Given the description of an element on the screen output the (x, y) to click on. 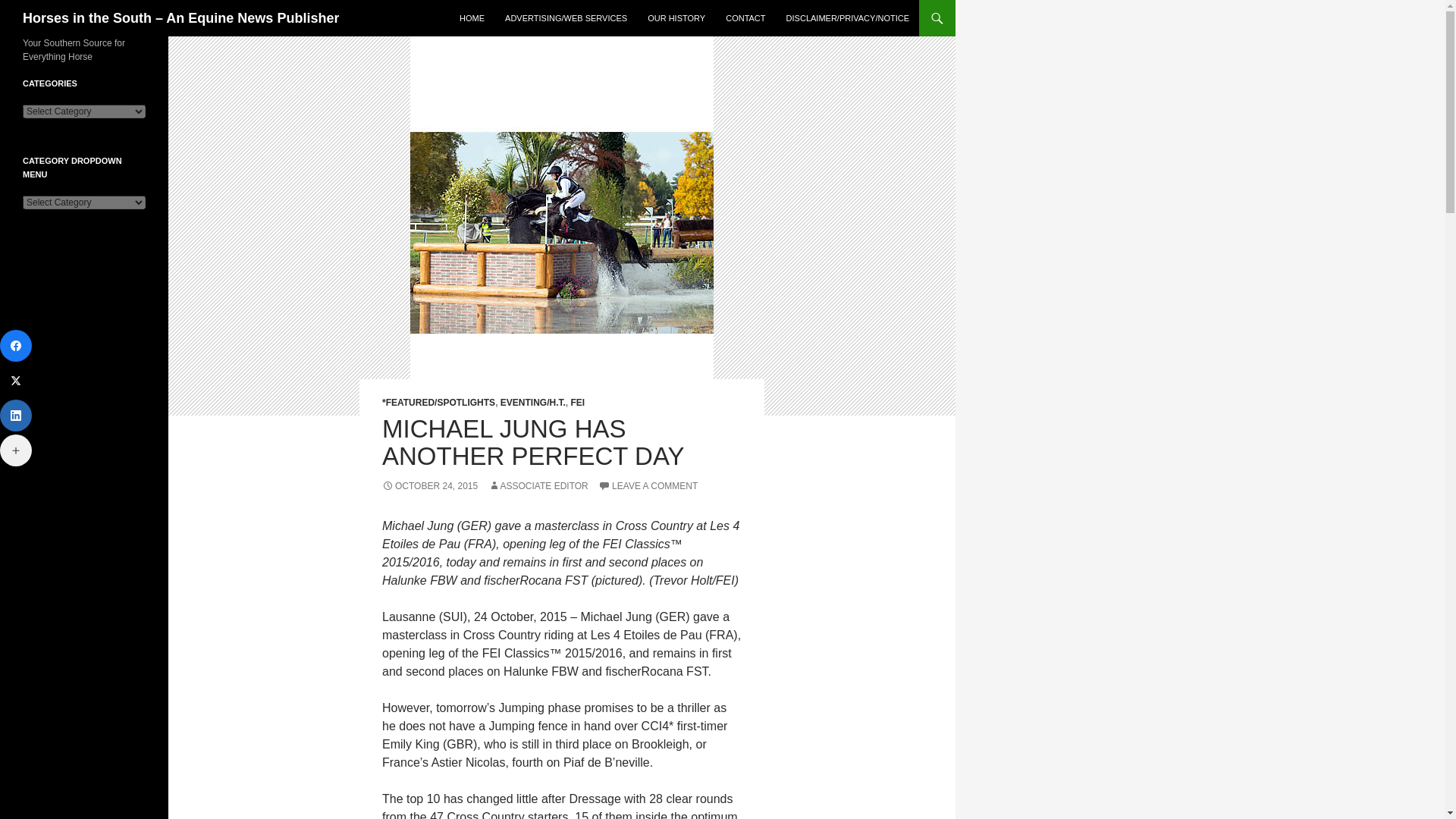
CONTACT (745, 18)
ASSOCIATE EDITOR (537, 485)
LEAVE A COMMENT (647, 485)
OCTOBER 24, 2015 (429, 485)
OUR HISTORY (676, 18)
HOME (471, 18)
FEI (577, 402)
